Given the description of an element on the screen output the (x, y) to click on. 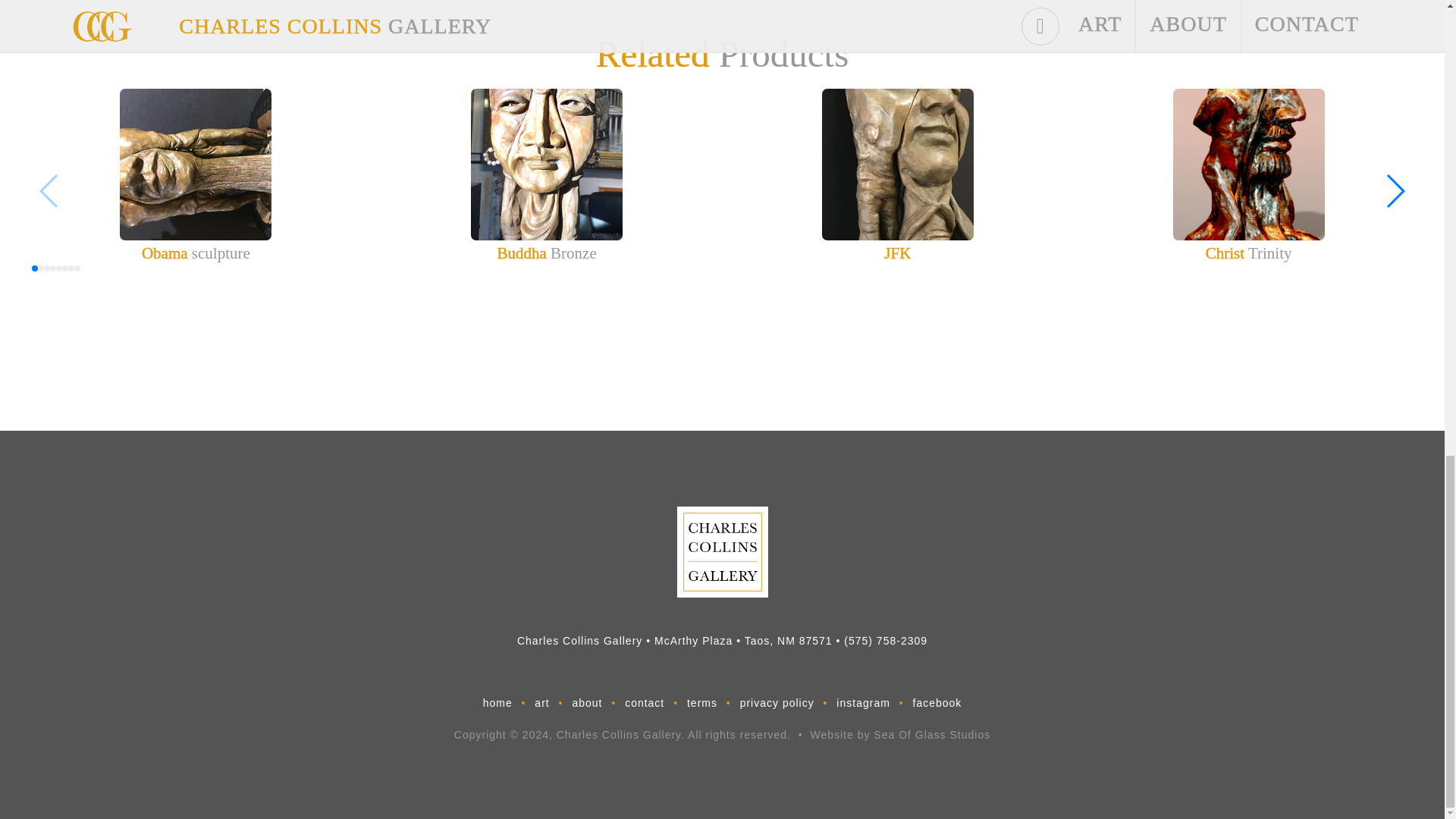
art (541, 702)
facebook (937, 702)
home (497, 702)
instagram (863, 702)
contact (644, 702)
privacy policy (777, 702)
terms (701, 702)
Sea Of Glass Studios (931, 734)
about (586, 702)
